Given the description of an element on the screen output the (x, y) to click on. 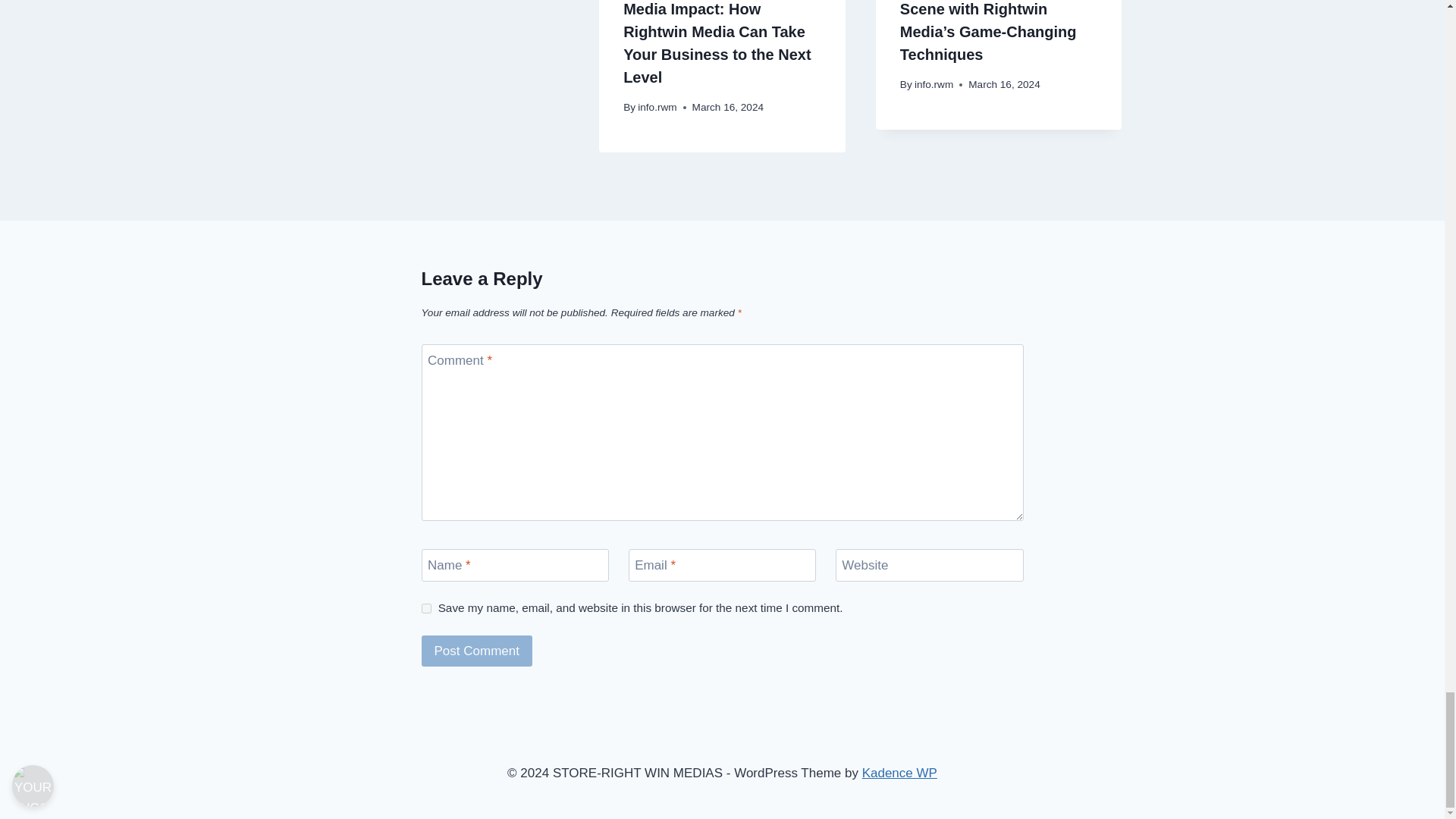
Post Comment (477, 650)
info.rwm (657, 107)
yes (426, 608)
